Given the description of an element on the screen output the (x, y) to click on. 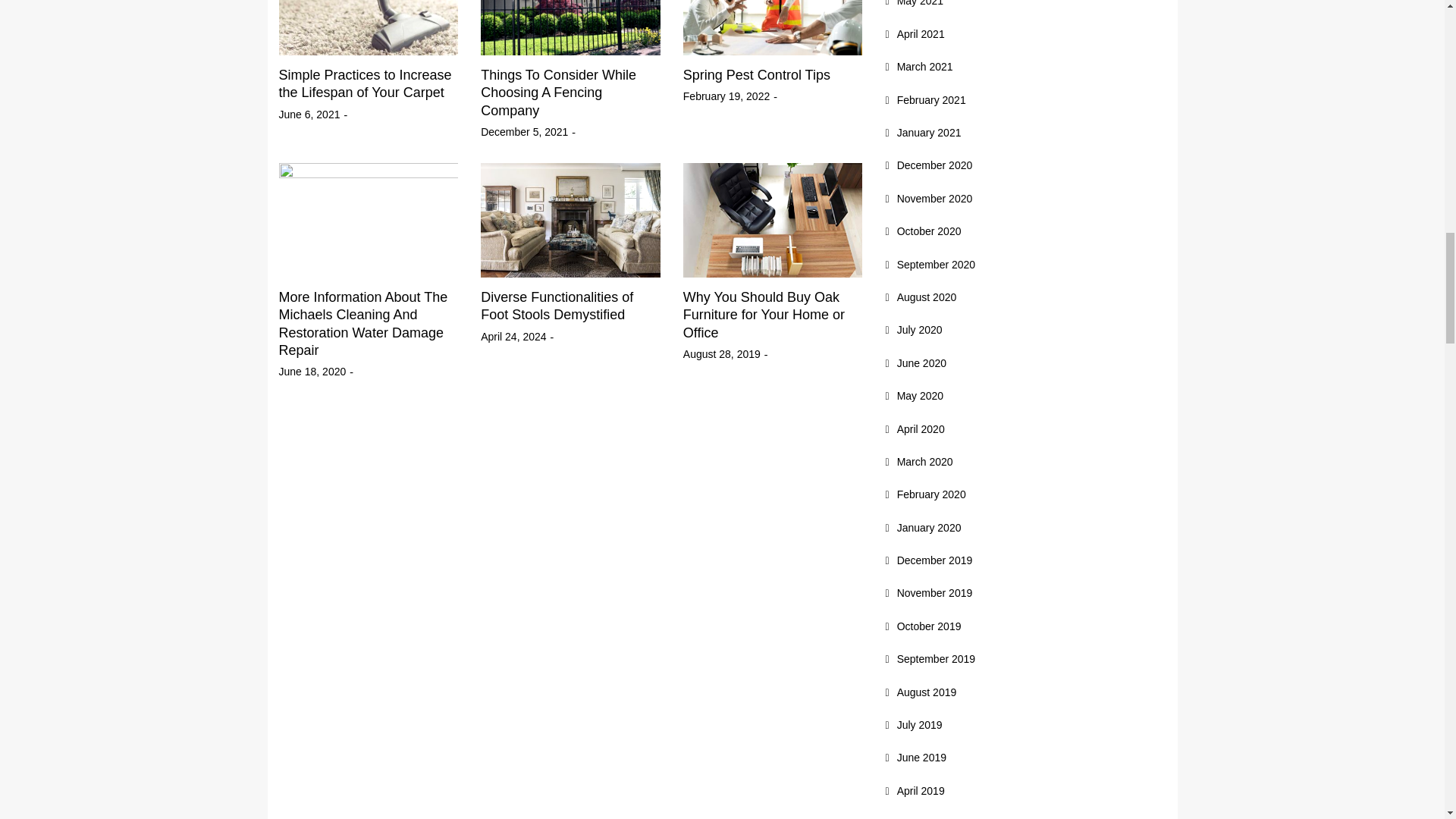
February 19, 2022 (726, 95)
Diverse Functionalities of Foot Stools Demystified (556, 305)
Simple Practices to Increase the Lifespan of Your Carpet (365, 83)
August 28, 2019 (721, 353)
Things To Consider While Choosing A Fencing Company (558, 92)
June 6, 2021 (309, 114)
April 24, 2024 (513, 336)
June 18, 2020 (312, 371)
Why You Should Buy Oak Furniture for Your Home or Office (763, 314)
December 5, 2021 (523, 131)
Spring Pest Control Tips (755, 74)
